Given the description of an element on the screen output the (x, y) to click on. 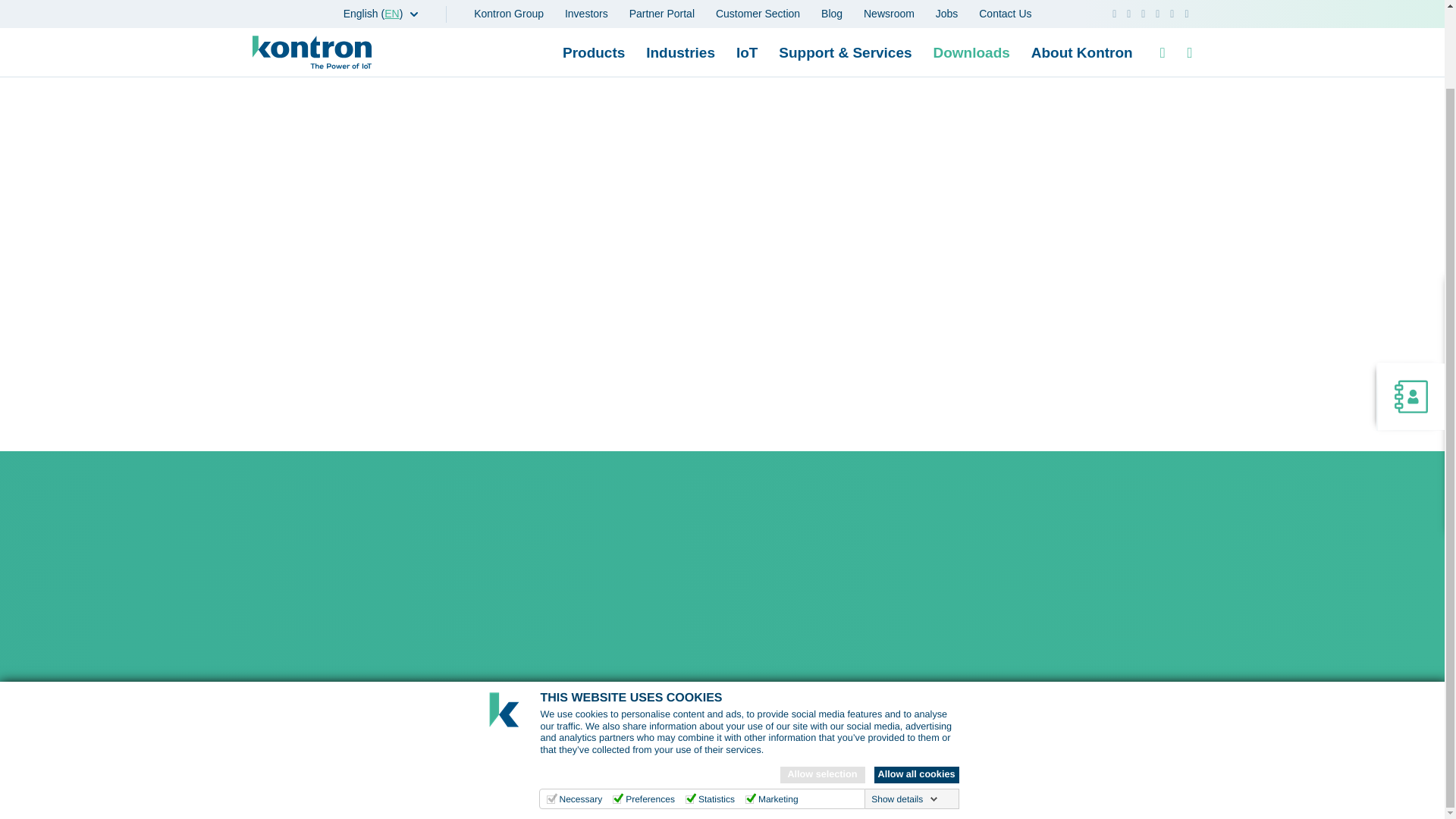
Allow all cookies (915, 686)
Allow selection (821, 686)
Show details (903, 711)
